Given the description of an element on the screen output the (x, y) to click on. 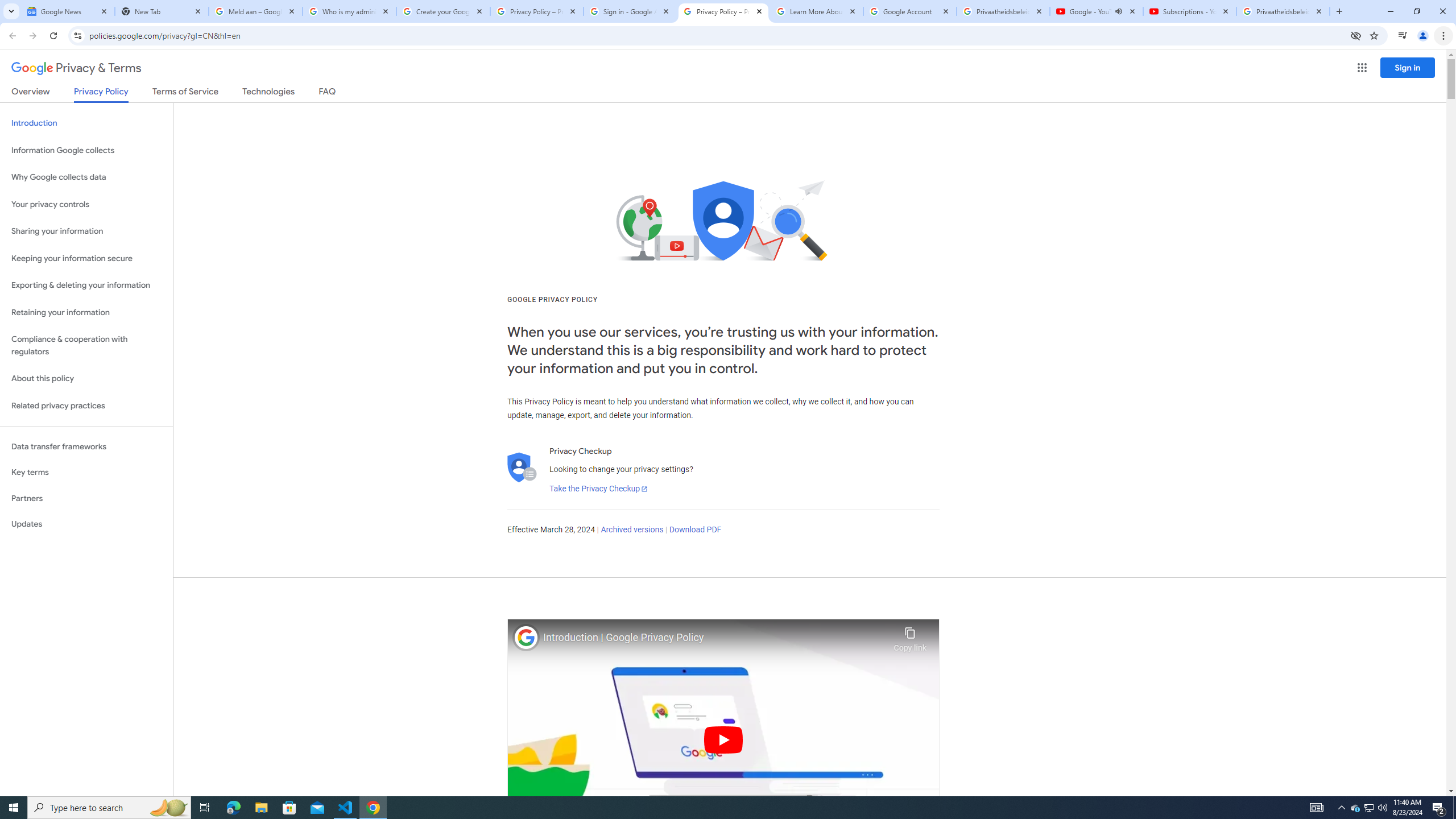
Information Google collects (86, 150)
Retaining your information (86, 312)
Keeping your information secure (86, 258)
Sharing your information (86, 230)
